Given the description of an element on the screen output the (x, y) to click on. 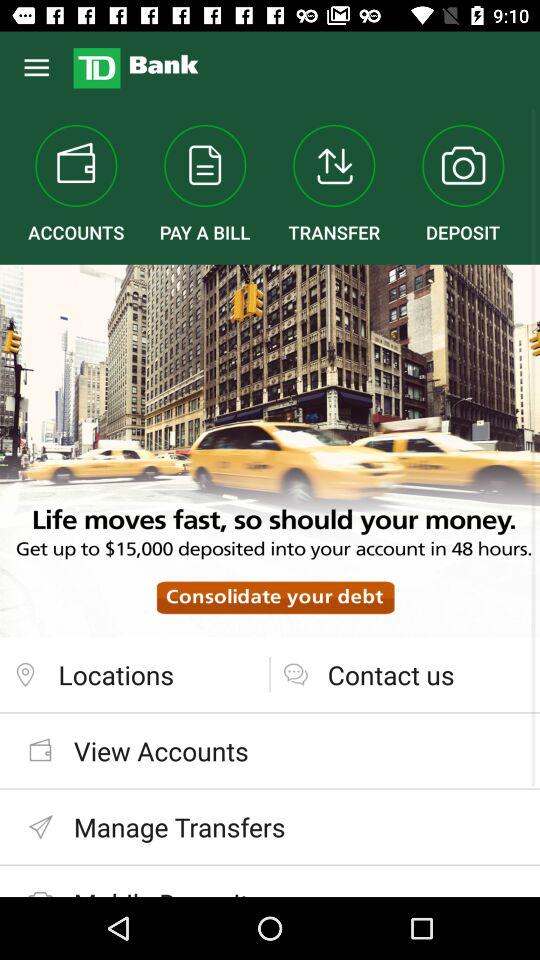
press the icon above the view accounts icon (134, 674)
